Given the description of an element on the screen output the (x, y) to click on. 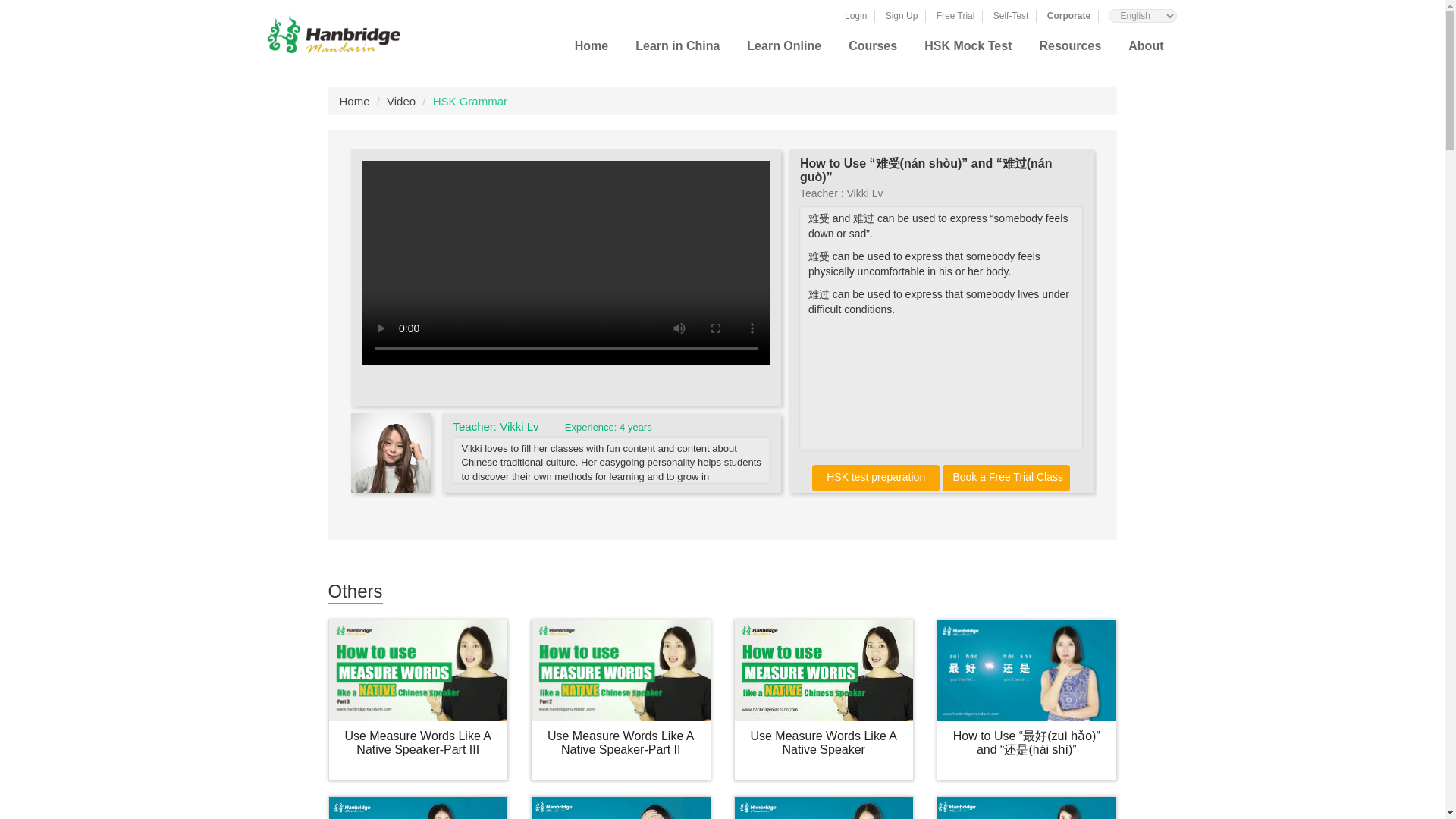
Corporate (1068, 15)
Learn Online (783, 52)
Sign Up (901, 15)
Free Trial (955, 15)
Self-Test (1010, 15)
Courses (872, 52)
Login (855, 15)
Learn in China (676, 52)
Home (591, 52)
